Given the description of an element on the screen output the (x, y) to click on. 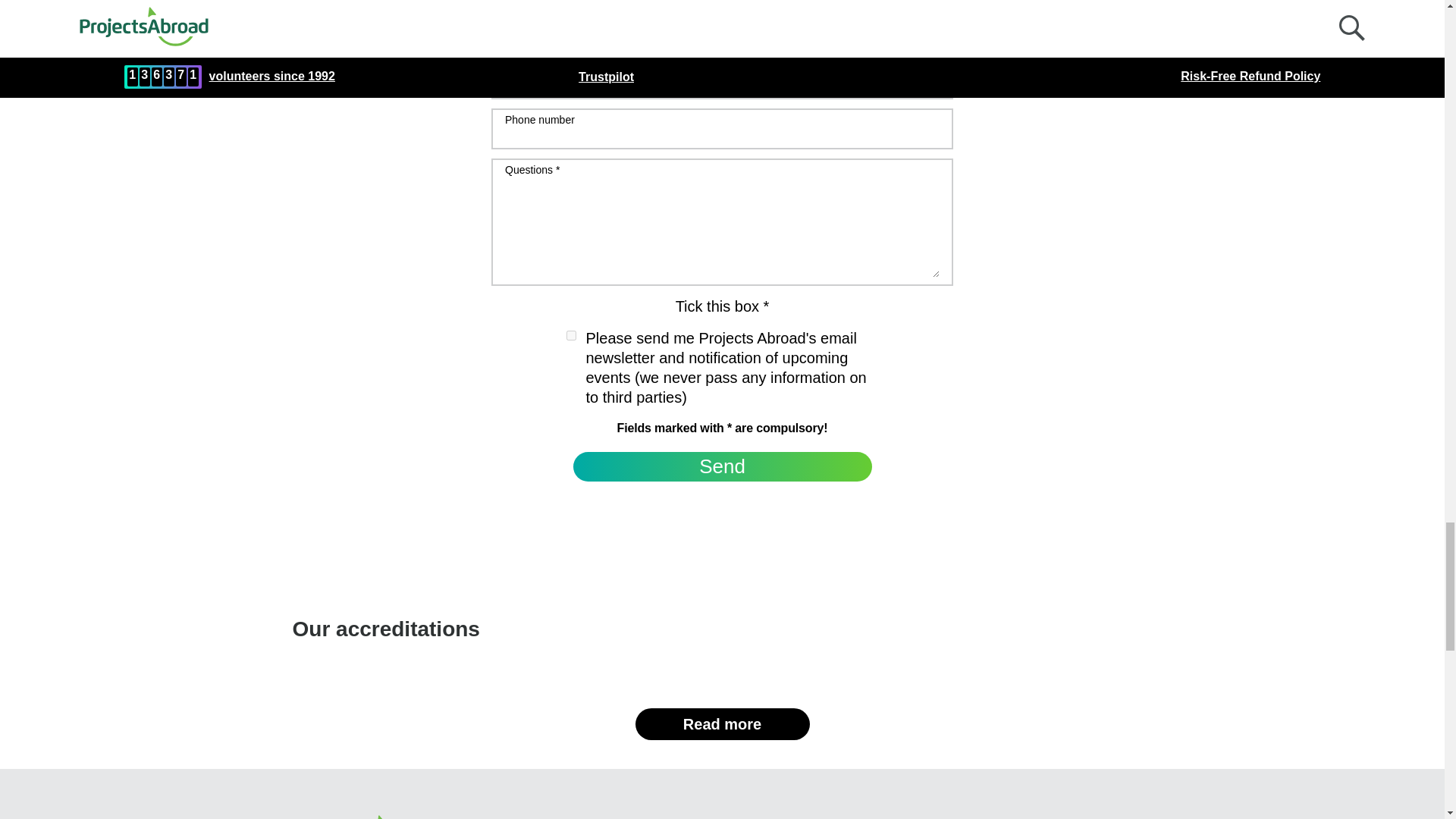
1 (570, 335)
